Given the description of an element on the screen output the (x, y) to click on. 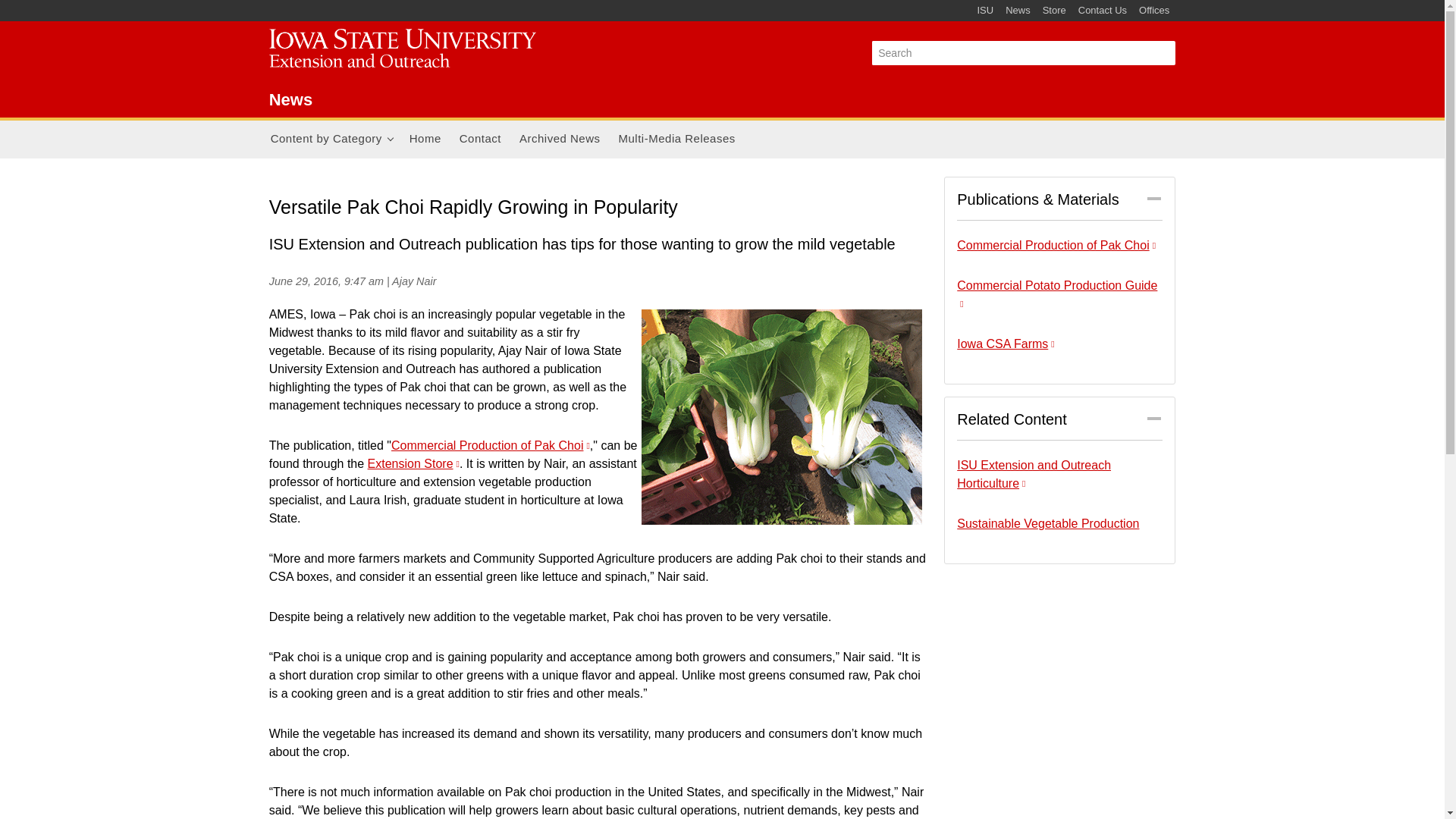
Commercial Production of Pak Choi (1056, 245)
News (411, 50)
Contact (480, 139)
Store (1053, 10)
Commercial Production of Pak Choi (490, 444)
News (291, 99)
Multi-Media Releases (677, 139)
Home (424, 139)
Skip to main content (685, 1)
News (1017, 10)
